Given the description of an element on the screen output the (x, y) to click on. 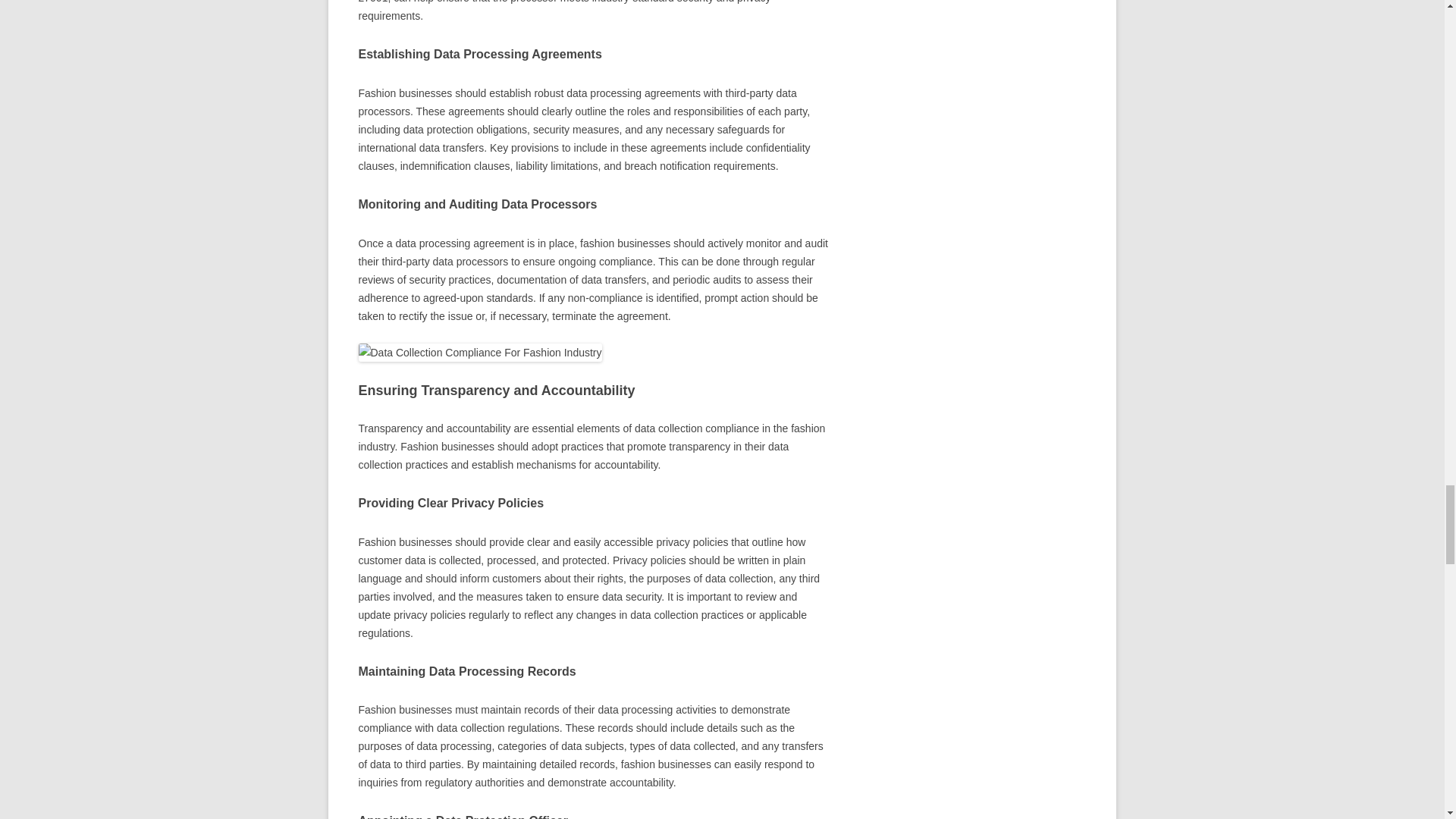
Data Collection Compliance For Fashion Industry (479, 352)
